Given the description of an element on the screen output the (x, y) to click on. 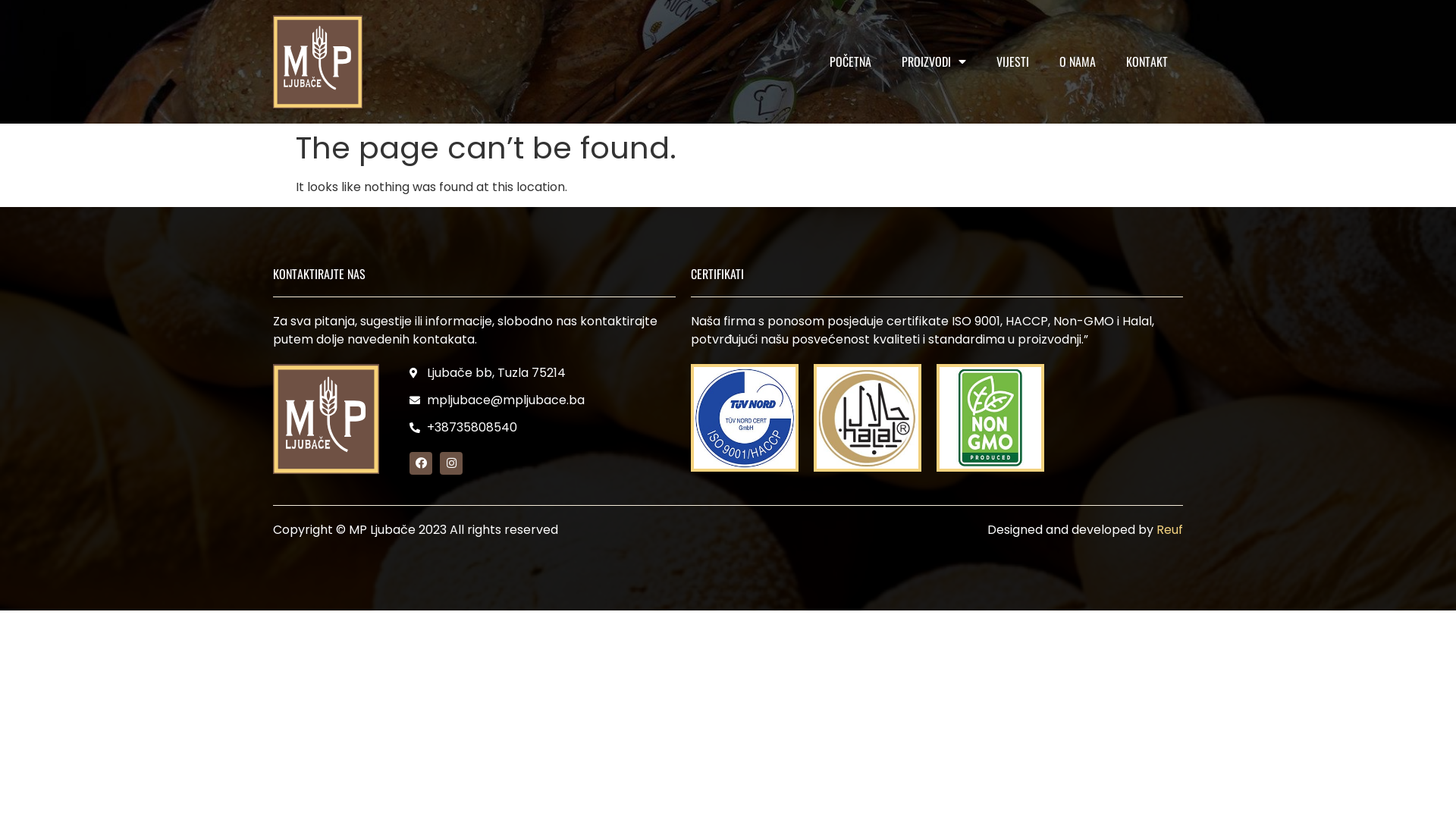
PROIZVODI Element type: text (933, 60)
Reuf Element type: text (1169, 528)
+38735808540 Element type: text (495, 427)
VIJESTI Element type: text (1012, 60)
O NAMA Element type: text (1077, 60)
mpljubace@mpljubace.ba Element type: text (495, 400)
KONTAKT Element type: text (1146, 60)
